Given the description of an element on the screen output the (x, y) to click on. 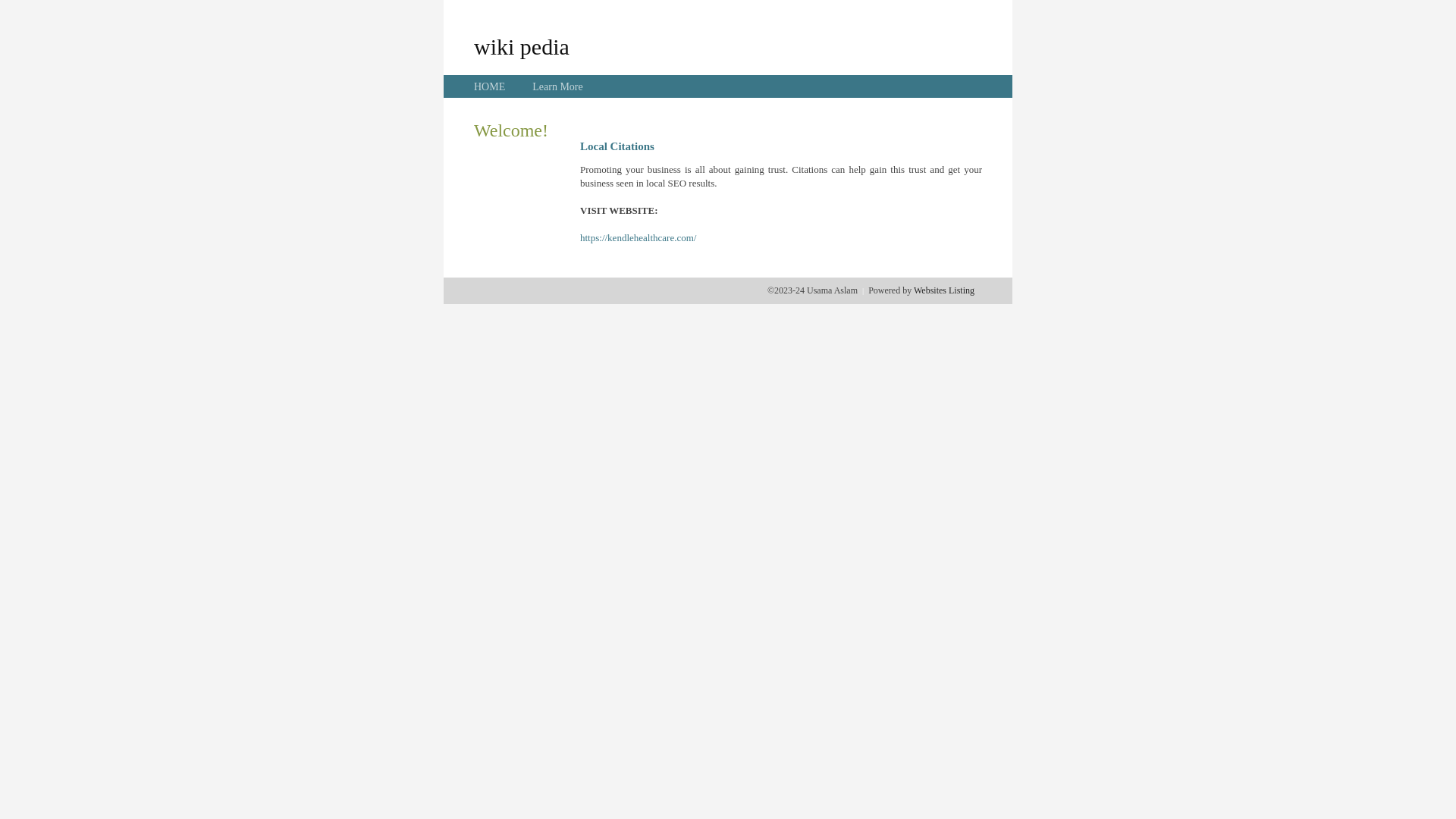
Websites Listing Element type: text (943, 290)
HOME Element type: text (489, 86)
wiki pedia Element type: text (521, 46)
Learn More Element type: text (557, 86)
https://kendlehealthcare.com/ Element type: text (638, 237)
